Given the description of an element on the screen output the (x, y) to click on. 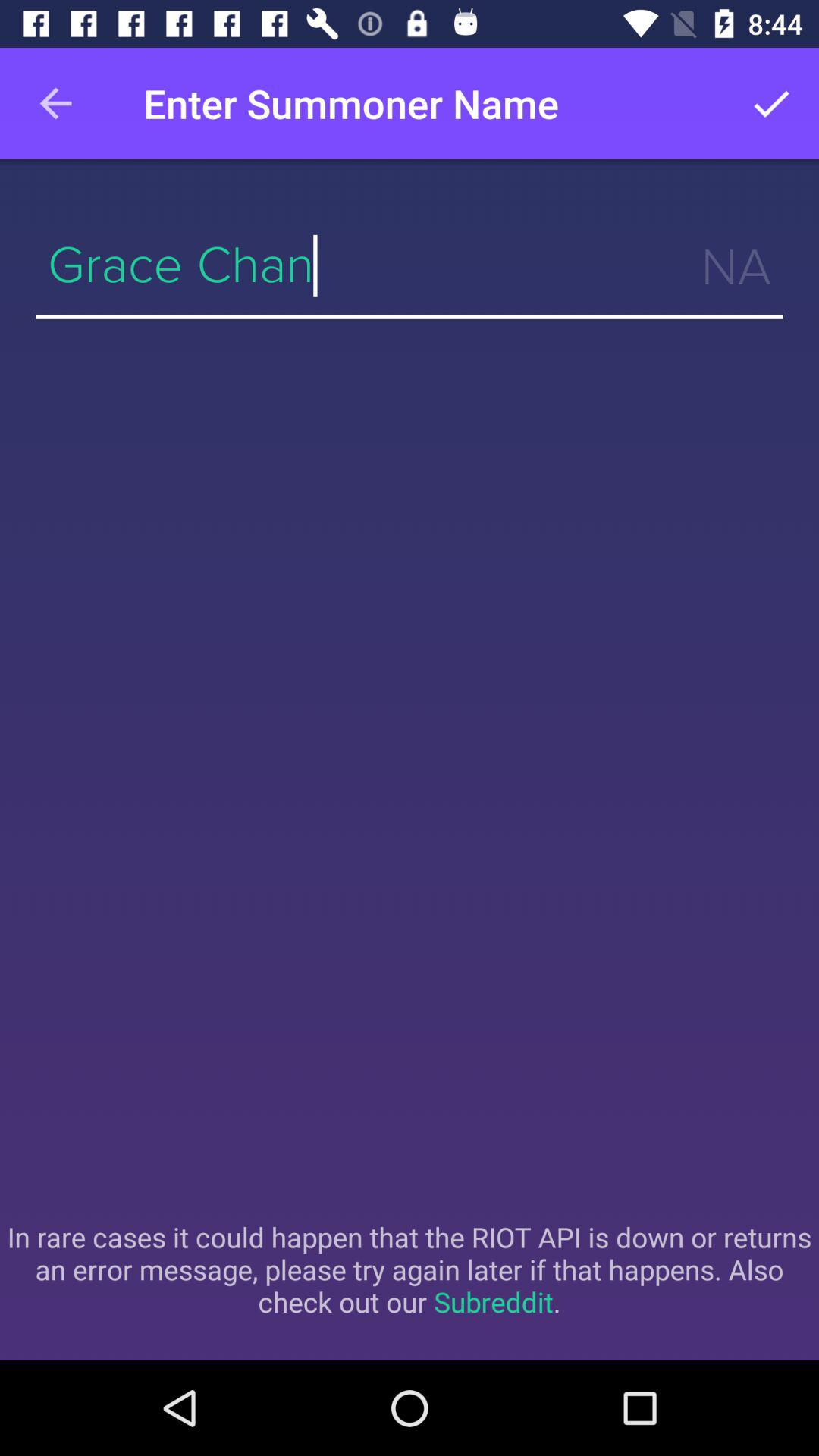
launch item next to the enter summoner name (771, 103)
